Given the description of an element on the screen output the (x, y) to click on. 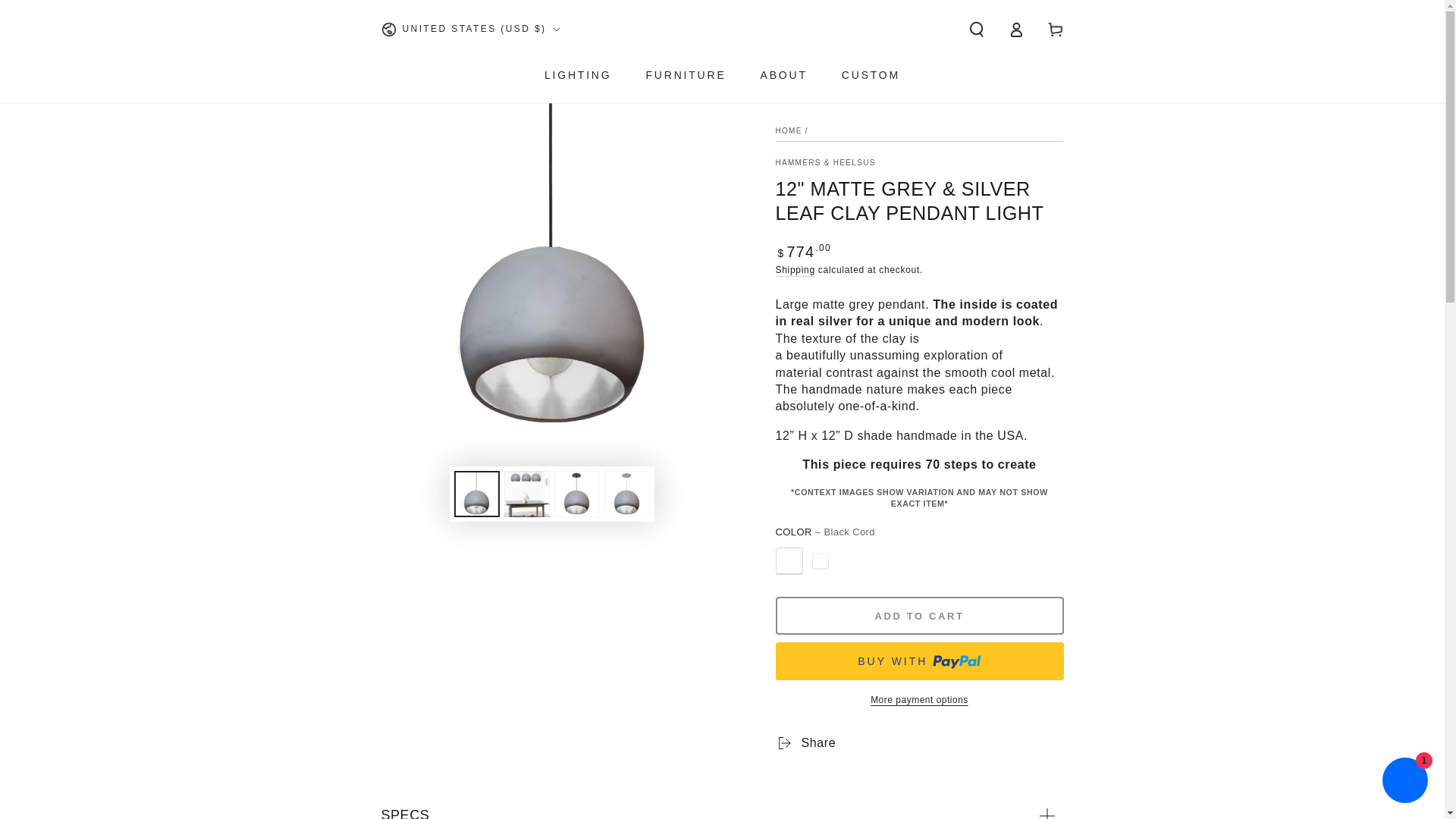
SKIP TO CONTENT (67, 14)
Shopify online store chat (1404, 781)
Back to the frontpage (788, 130)
Nickel Cord (820, 560)
Black Cord (788, 560)
